Given the description of an element on the screen output the (x, y) to click on. 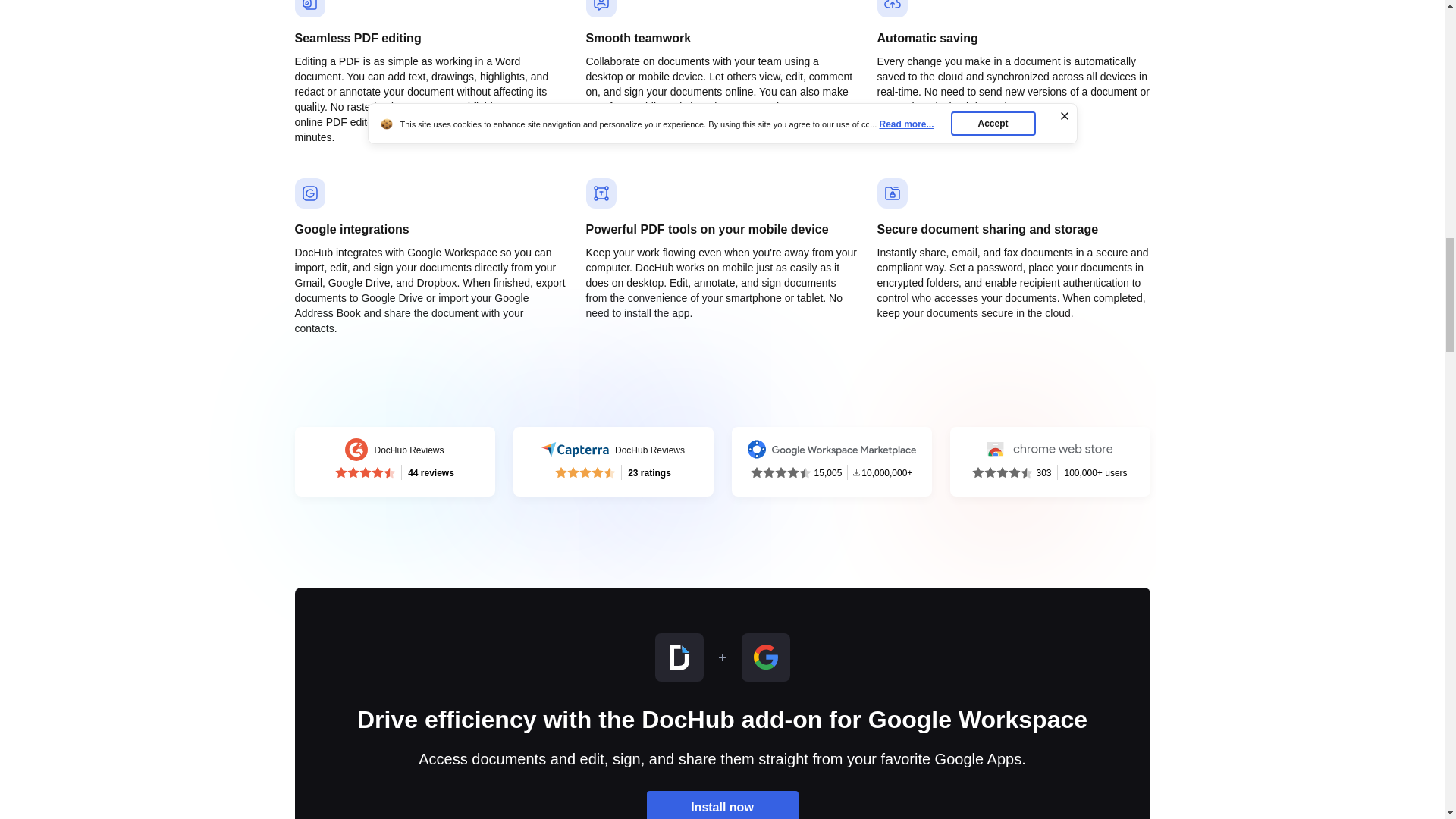
Install now (394, 461)
